Given the description of an element on the screen output the (x, y) to click on. 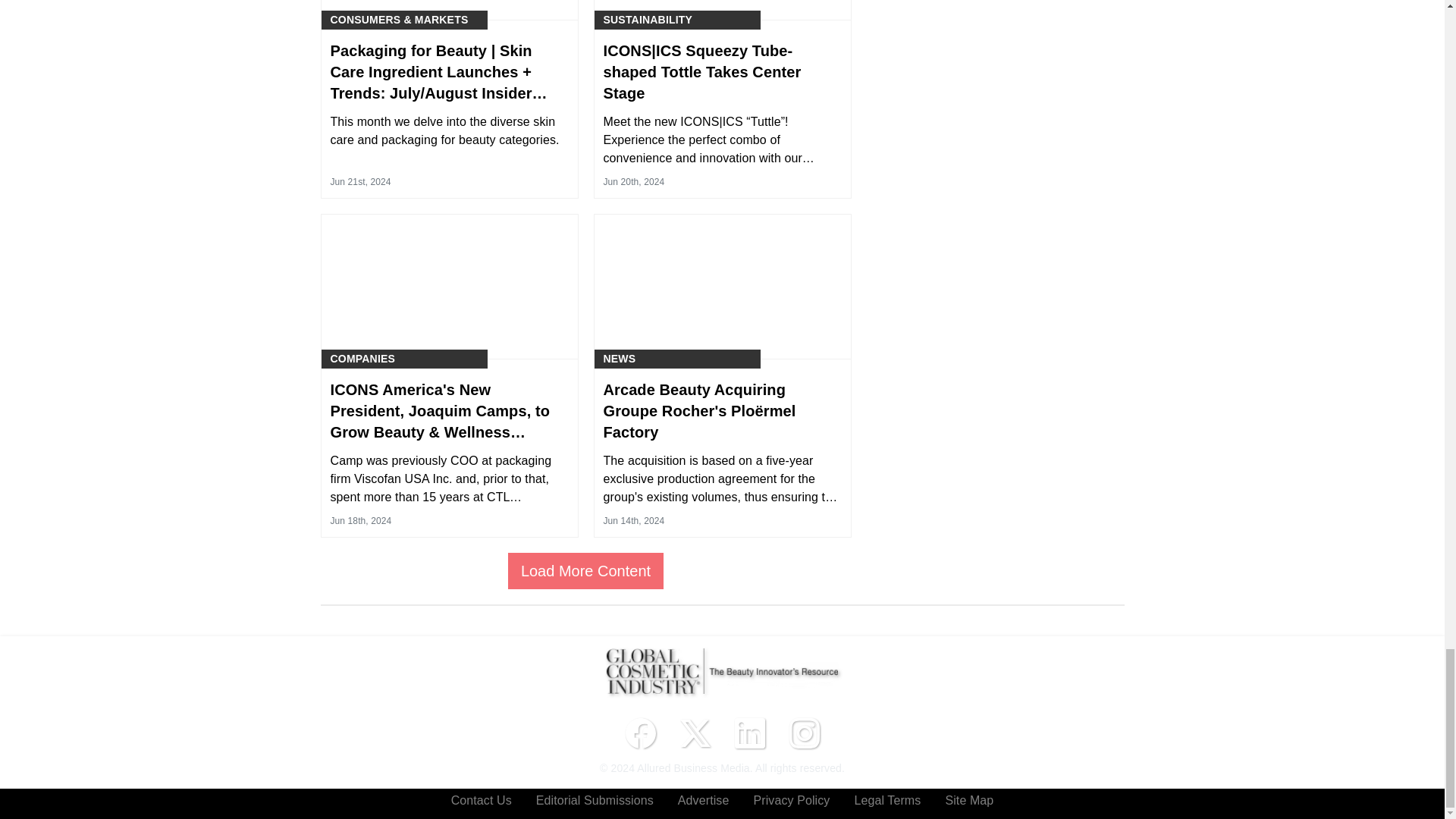
Twitter X icon (694, 733)
LinkedIn icon (748, 733)
Facebook icon (639, 733)
Instagram icon (803, 733)
